Given the description of an element on the screen output the (x, y) to click on. 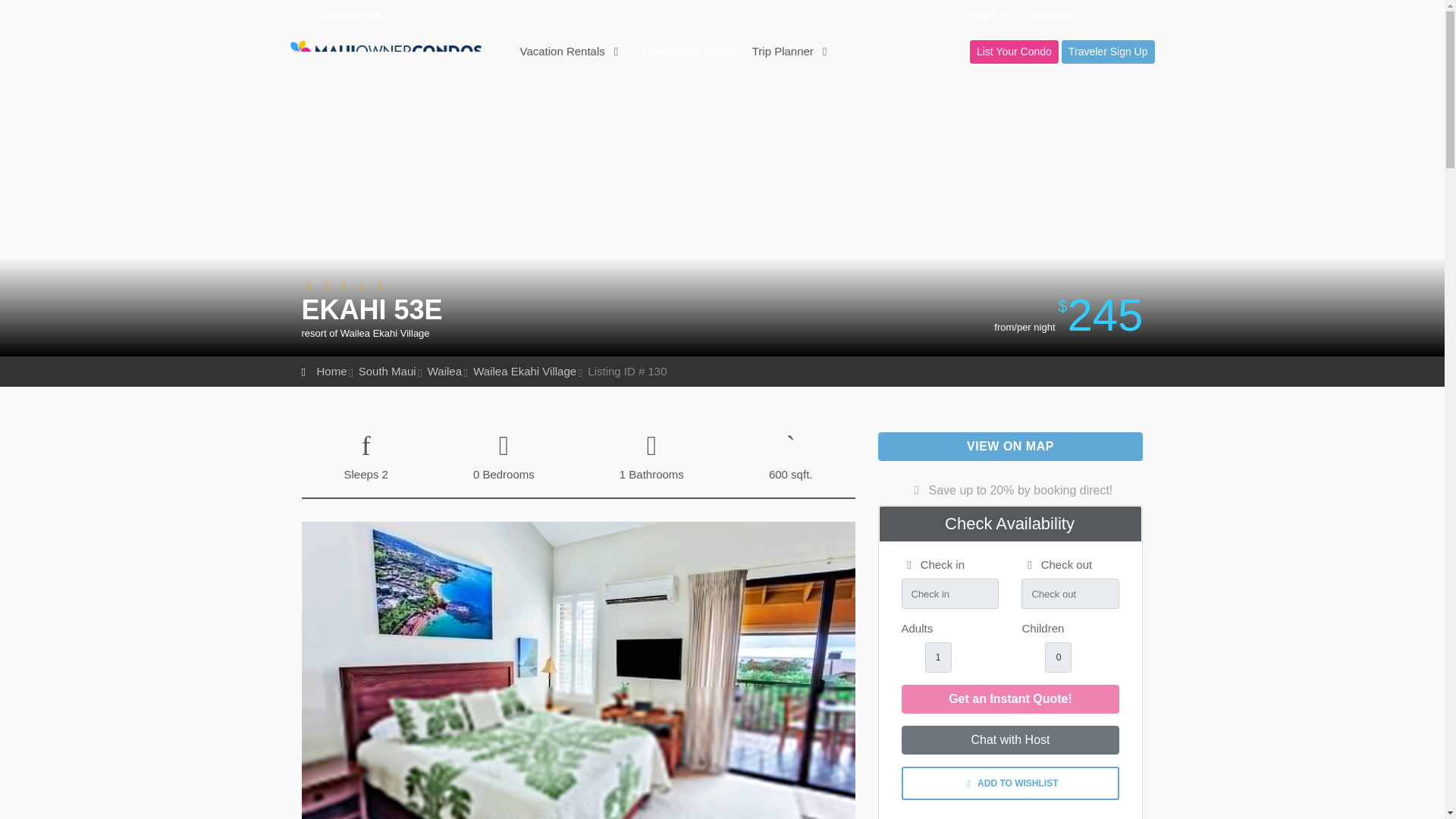
View Wailea Ekahi Village Listings (524, 370)
Last Minute Deals (687, 57)
MauiOwnerCondos (395, 58)
Sign in (979, 14)
View Wailea Listings (444, 370)
Get an Instant Quote! (1010, 698)
MauiOwnerCondos (395, 58)
Contact Us (350, 14)
Trip Planner (791, 57)
View South Maui Listings (387, 370)
